Given the description of an element on the screen output the (x, y) to click on. 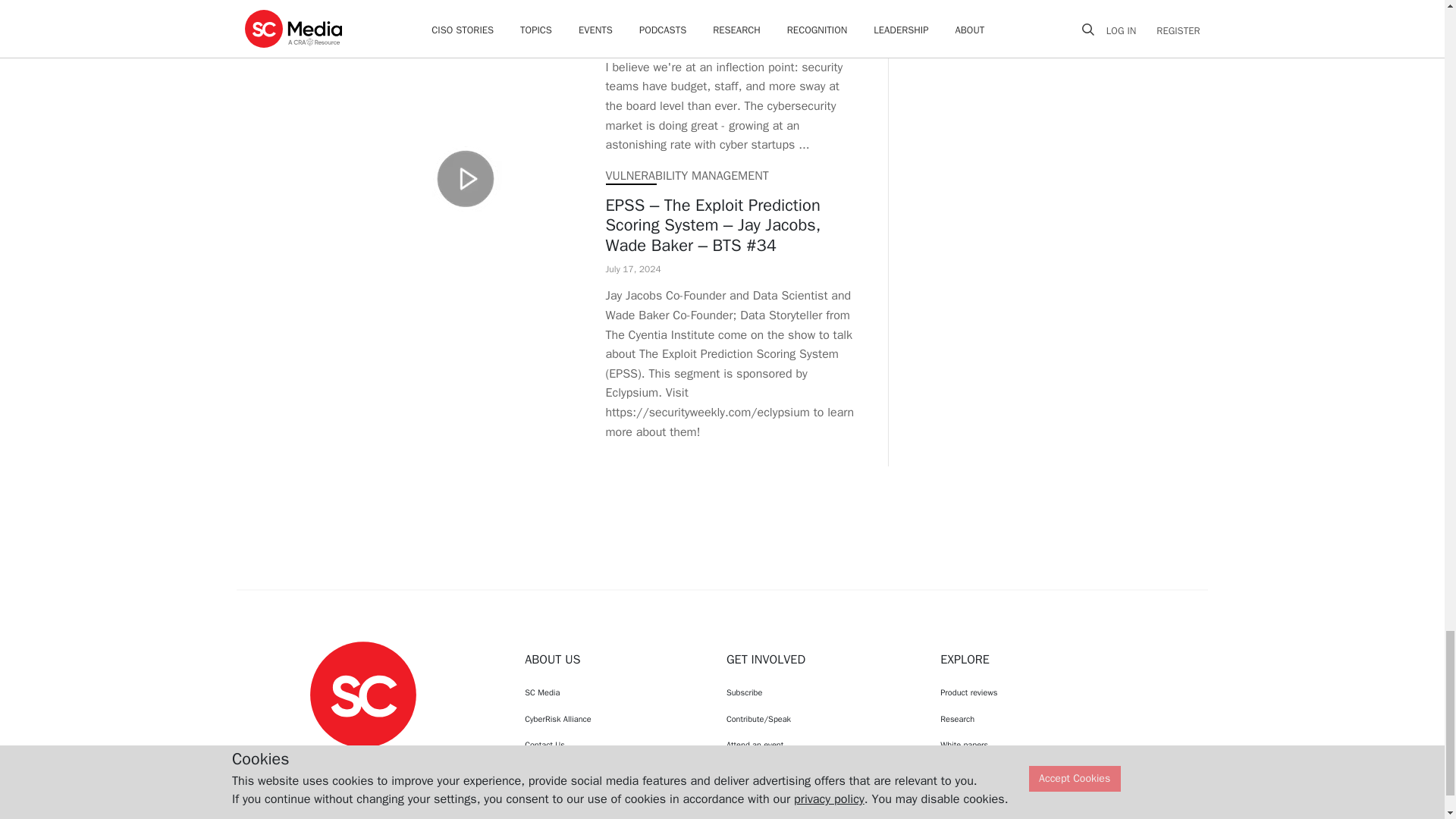
SCMagazine on Facebook (324, 761)
SCMagazine on LinkedIn (401, 761)
SC Media (362, 693)
SCMagazine on Twitter (362, 761)
